Given the description of an element on the screen output the (x, y) to click on. 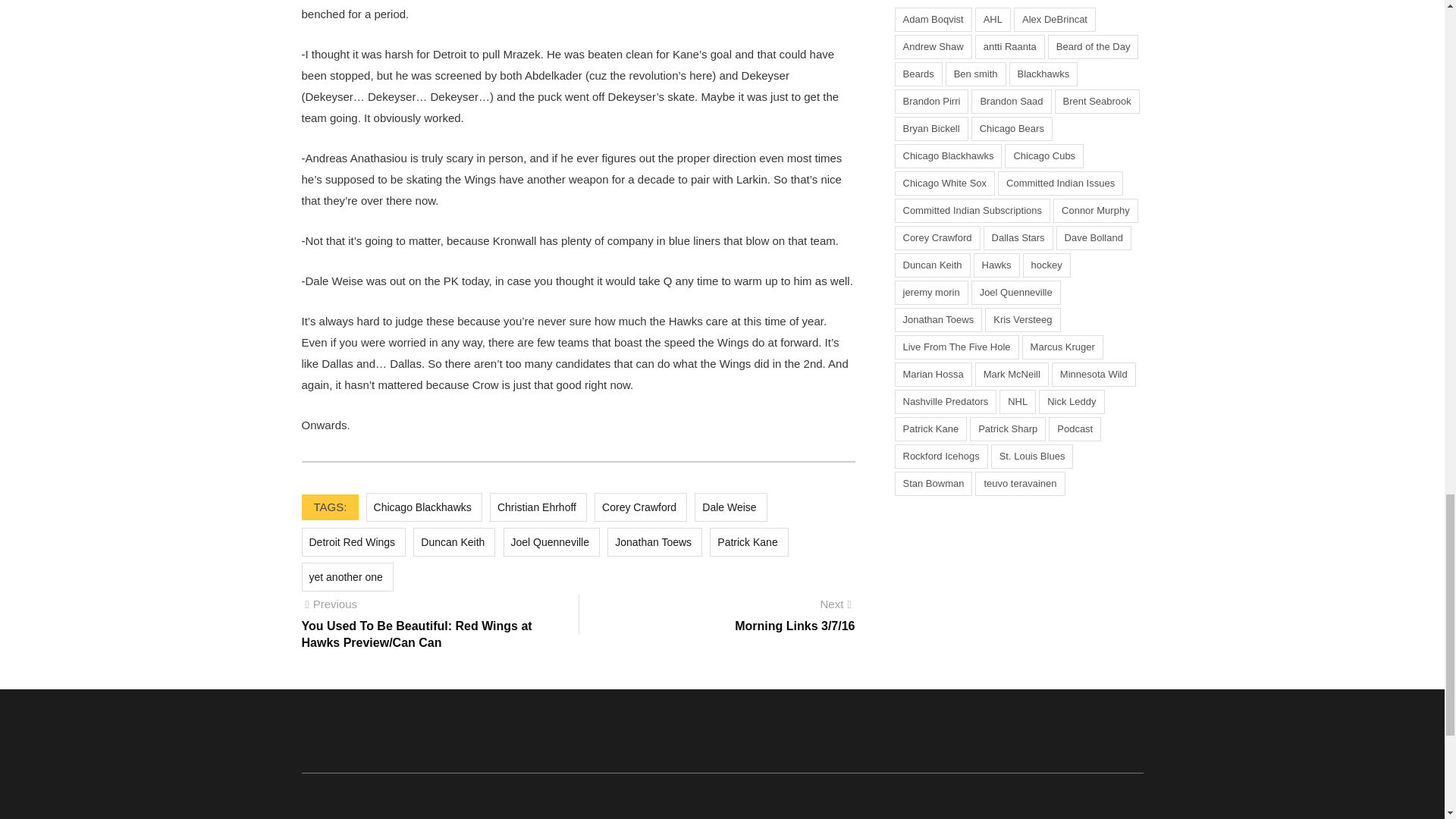
Joel Quenneville (551, 541)
Detroit Red Wings (353, 541)
Duncan Keith (454, 541)
yet another one (347, 576)
Corey Crawford (640, 507)
Alex DeBrincat (1054, 19)
Andrew Shaw (933, 46)
Adam Boqvist (933, 19)
Dale Weise (730, 507)
Patrick Kane (748, 541)
AHL (992, 19)
Christian Ehrhoff (537, 507)
Jonathan Toews (654, 541)
Chicago Blackhawks (423, 507)
